Given the description of an element on the screen output the (x, y) to click on. 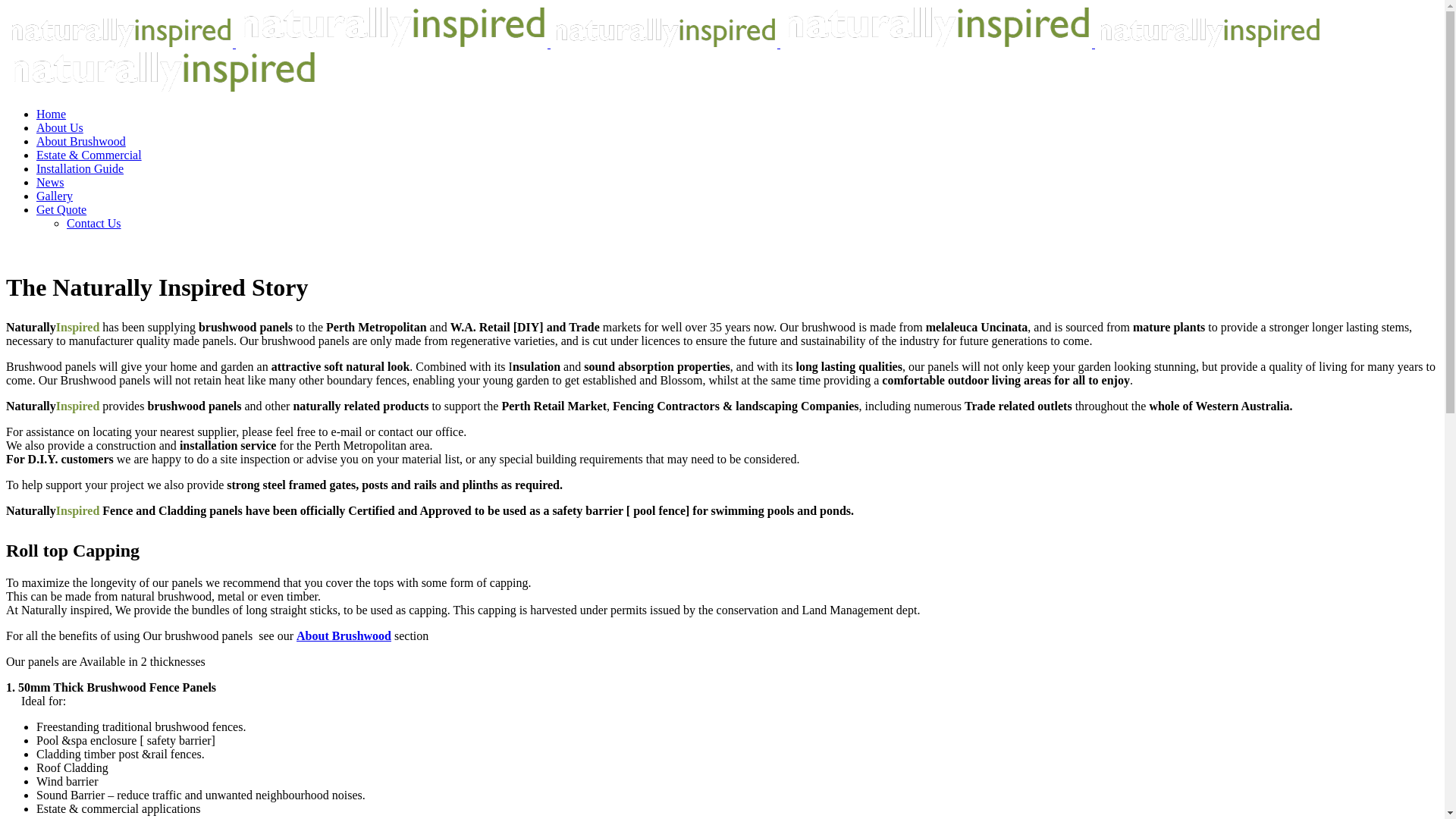
Contact Us Element type: text (93, 222)
Gallery Element type: text (54, 195)
Installation Guide Element type: text (79, 168)
Home Element type: text (50, 113)
About Brushwood Element type: text (80, 140)
Estate & Commercial Element type: text (88, 154)
About Brushwood Element type: text (343, 635)
Get Quote Element type: text (61, 209)
About Us Element type: text (59, 127)
News Element type: text (49, 181)
